Given the description of an element on the screen output the (x, y) to click on. 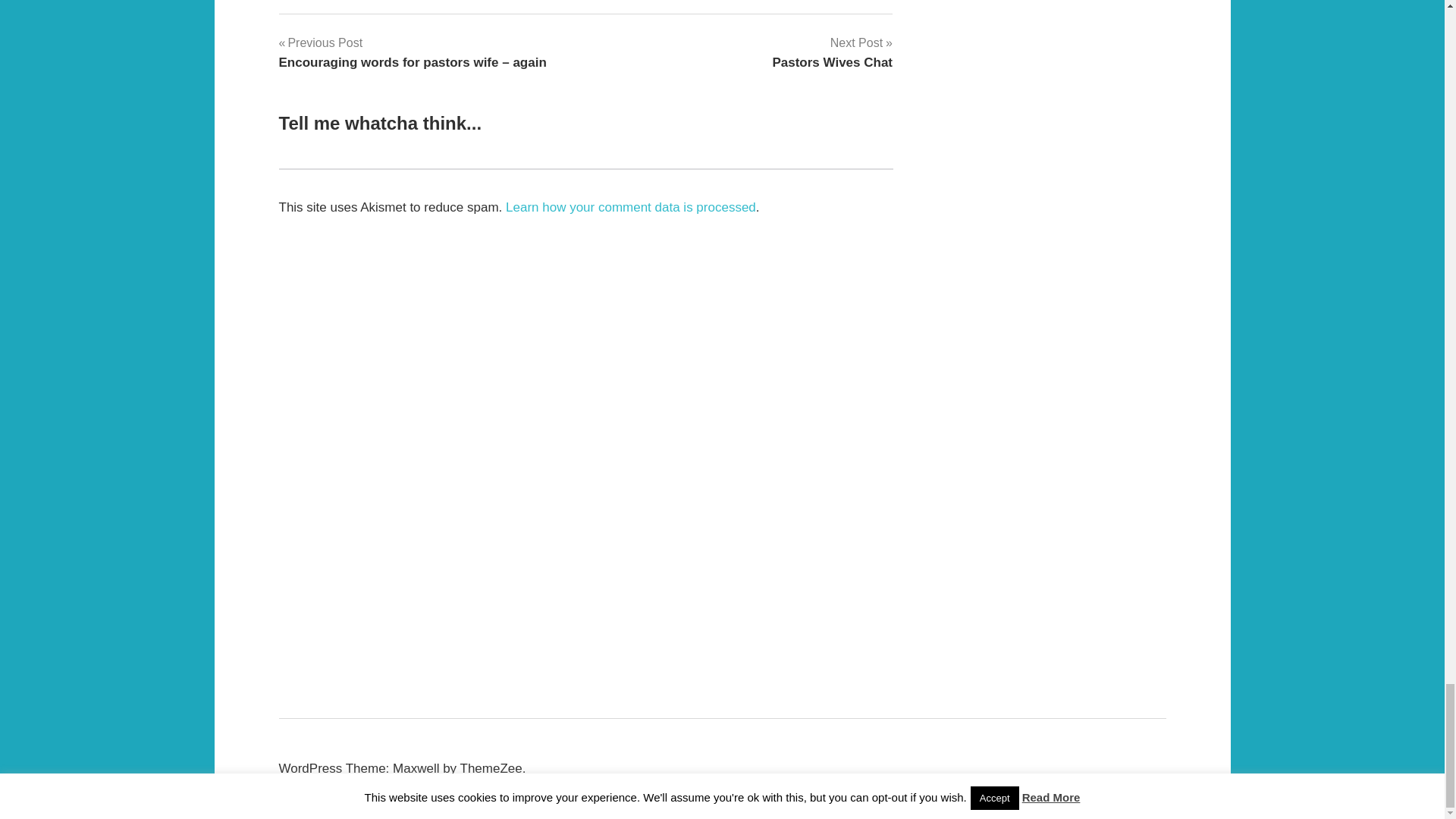
Comment Form (831, 52)
